Given the description of an element on the screen output the (x, y) to click on. 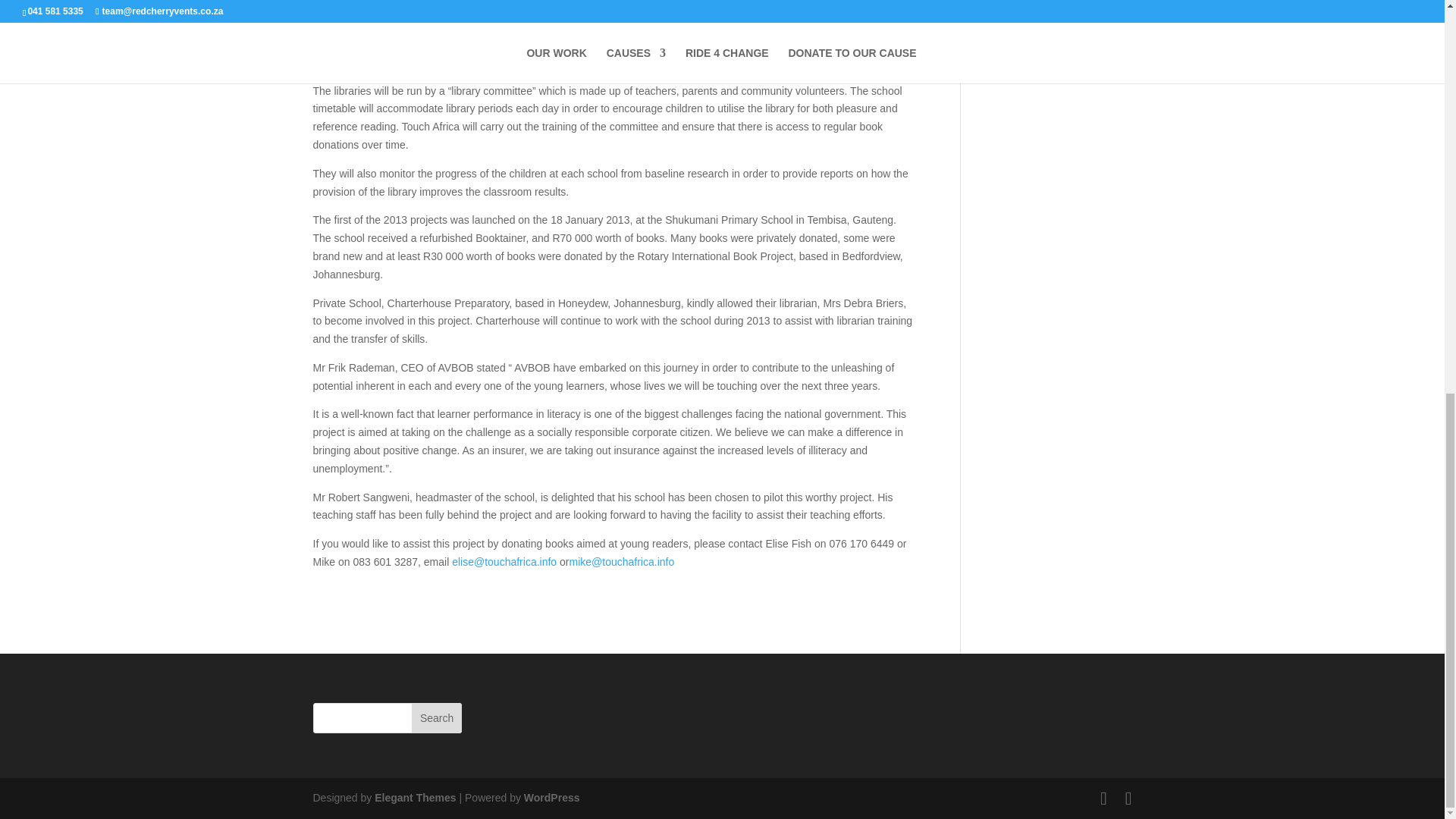
Search (436, 717)
Elegant Themes (414, 797)
Premium WordPress Themes (414, 797)
Search (436, 717)
WordPress (551, 797)
